Given the description of an element on the screen output the (x, y) to click on. 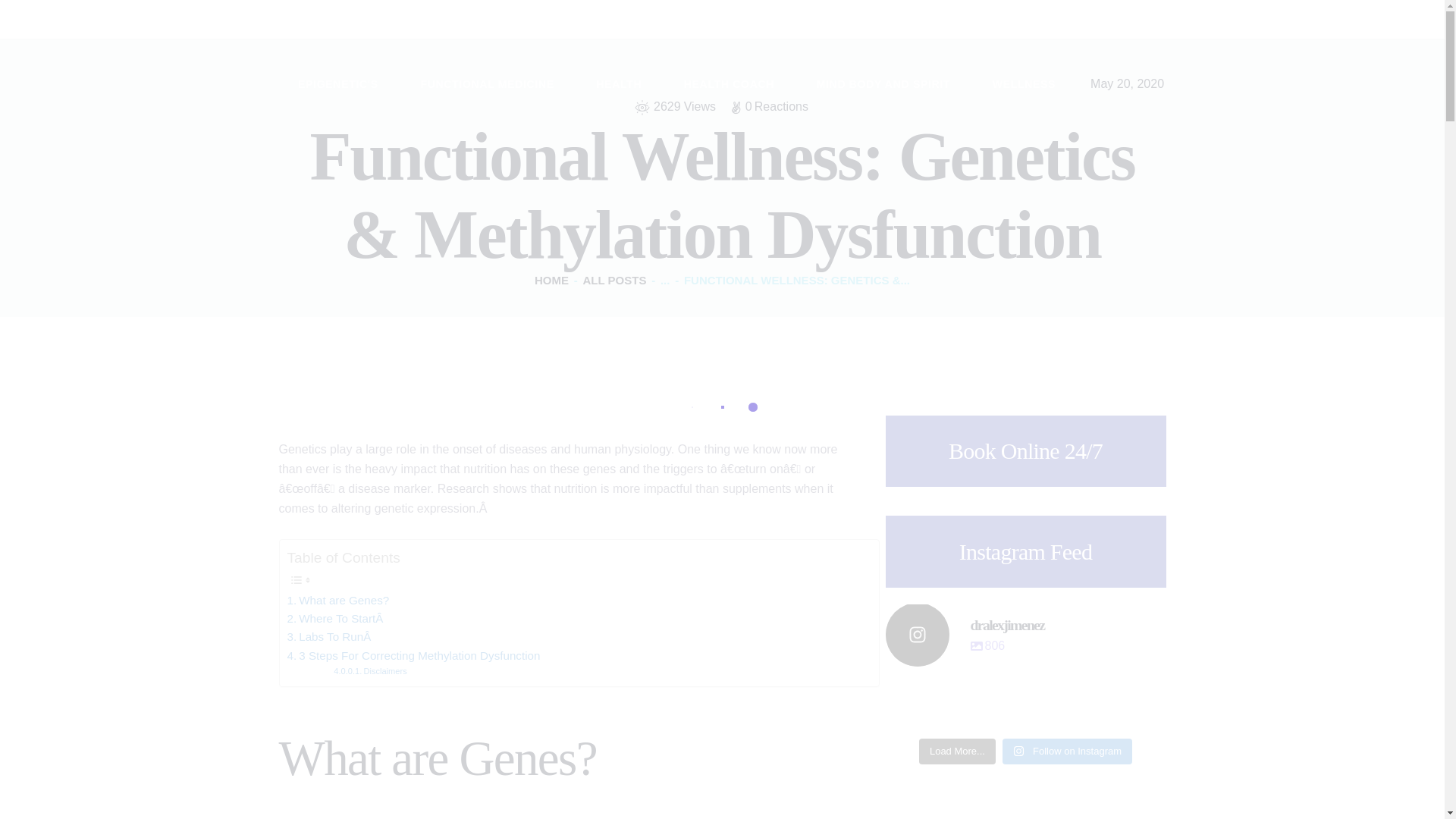
WELLNESS (1023, 83)
0Reactions (769, 106)
MIND BODY AND SPIRIT (882, 83)
Disclaimers (369, 671)
3 Steps For Correcting Methylation Dysfunction (413, 656)
EPIGENETIC'S (338, 83)
What are Genes? (337, 600)
HEALTH (618, 83)
ALL POSTS (614, 279)
HOME (551, 279)
HEALTH COACH (728, 83)
FUNCTIONAL MEDICINE (487, 83)
